Given the description of an element on the screen output the (x, y) to click on. 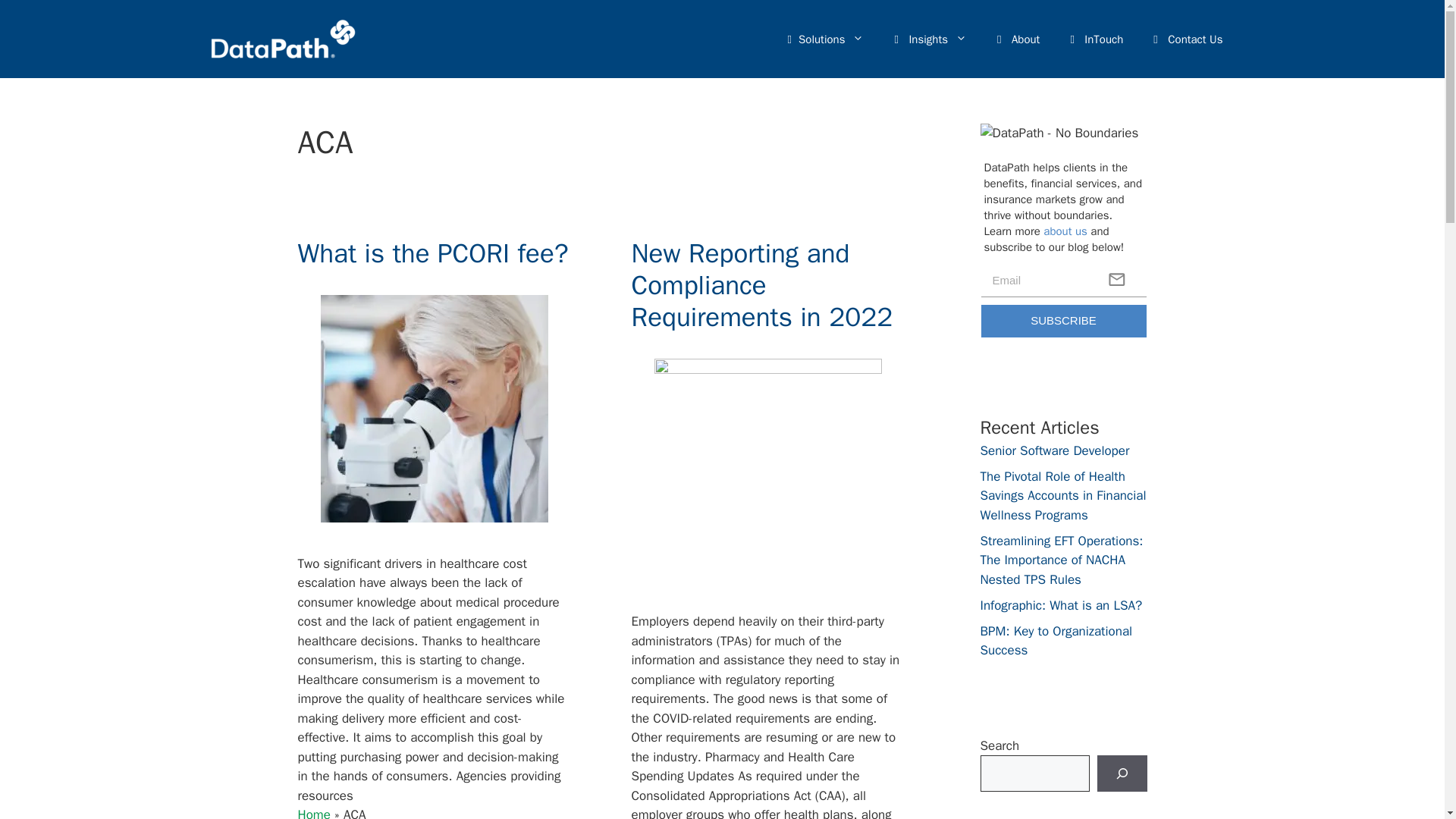
   Insights (930, 39)
DataPath - No Boundaries (1063, 137)
New Reporting and Compliance Requirements in 2022 (761, 284)
   About (1017, 39)
  Solutions (826, 39)
   Contact Us (1187, 39)
   InTouch (1096, 39)
What is the PCORI fee? (432, 253)
Home (313, 812)
